Given the description of an element on the screen output the (x, y) to click on. 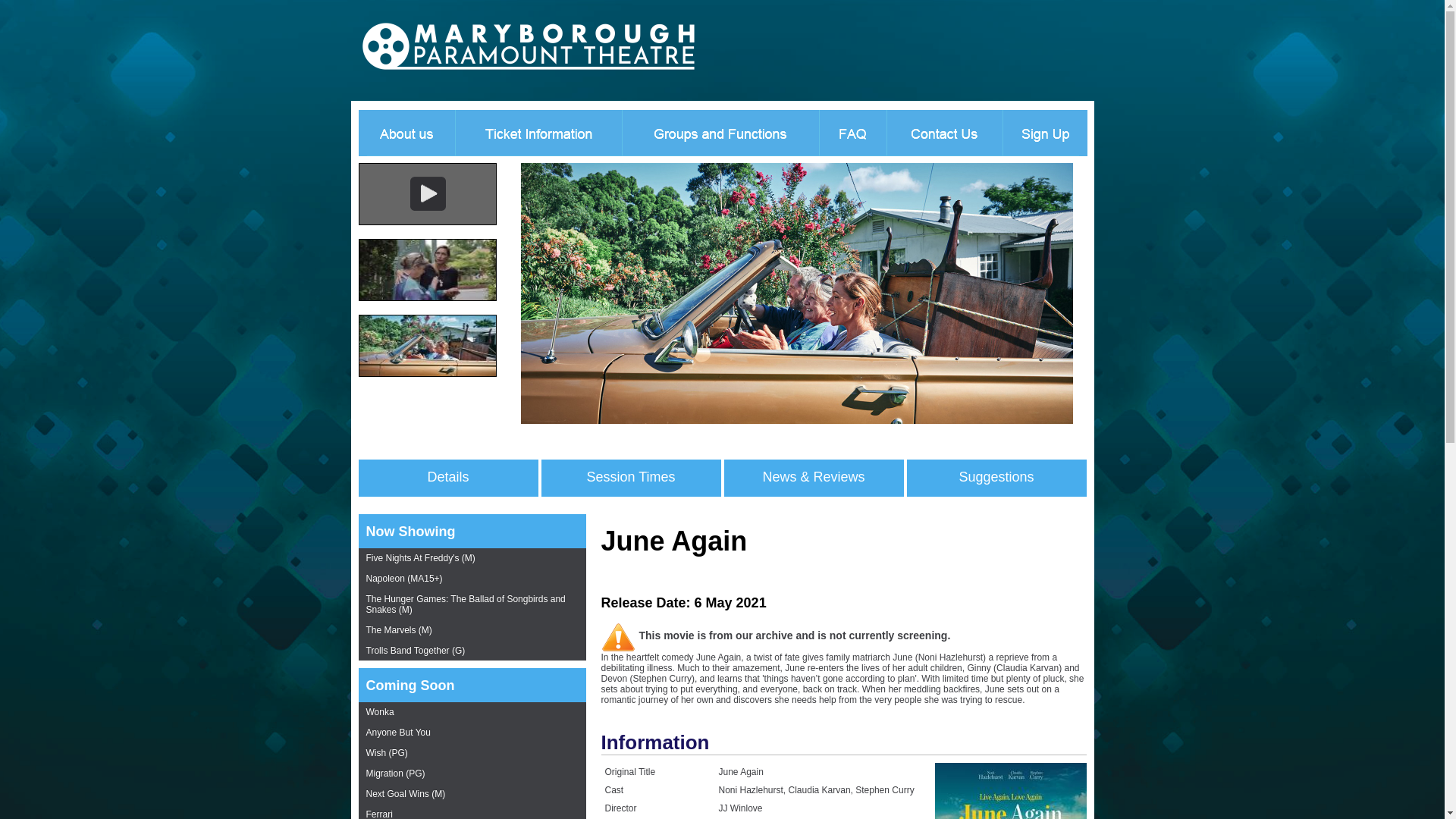
Wish (PG) Element type: text (471, 753)
About Us Element type: text (402, 131)
Five Nights At Freddy's (M) Element type: text (471, 558)
Suggestions Element type: text (996, 477)
News & Reviews Element type: text (813, 477)
Trolls Band Together (G) Element type: text (471, 650)
Anyone But You Element type: text (471, 732)
Details Element type: text (447, 477)
Ticket Information Element type: text (538, 131)
Wonka Element type: text (471, 712)
Next Goal Wins (M) Element type: text (471, 794)
The Hunger Games: The Ballad of Songbirds and Snakes (M) Element type: text (471, 604)
Signup Element type: text (1048, 131)
Contact Us Element type: text (943, 131)
Session Times Element type: text (631, 477)
Groups anfd Functions Element type: text (720, 131)
  Element type: text (442, 49)
Napoleon (MA15+) Element type: text (471, 578)
FAQ Element type: text (852, 131)
Photo: June Again Element type: text (796, 420)
The Marvels (M) Element type: text (471, 630)
Migration (PG) Element type: text (471, 773)
